Given the description of an element on the screen output the (x, y) to click on. 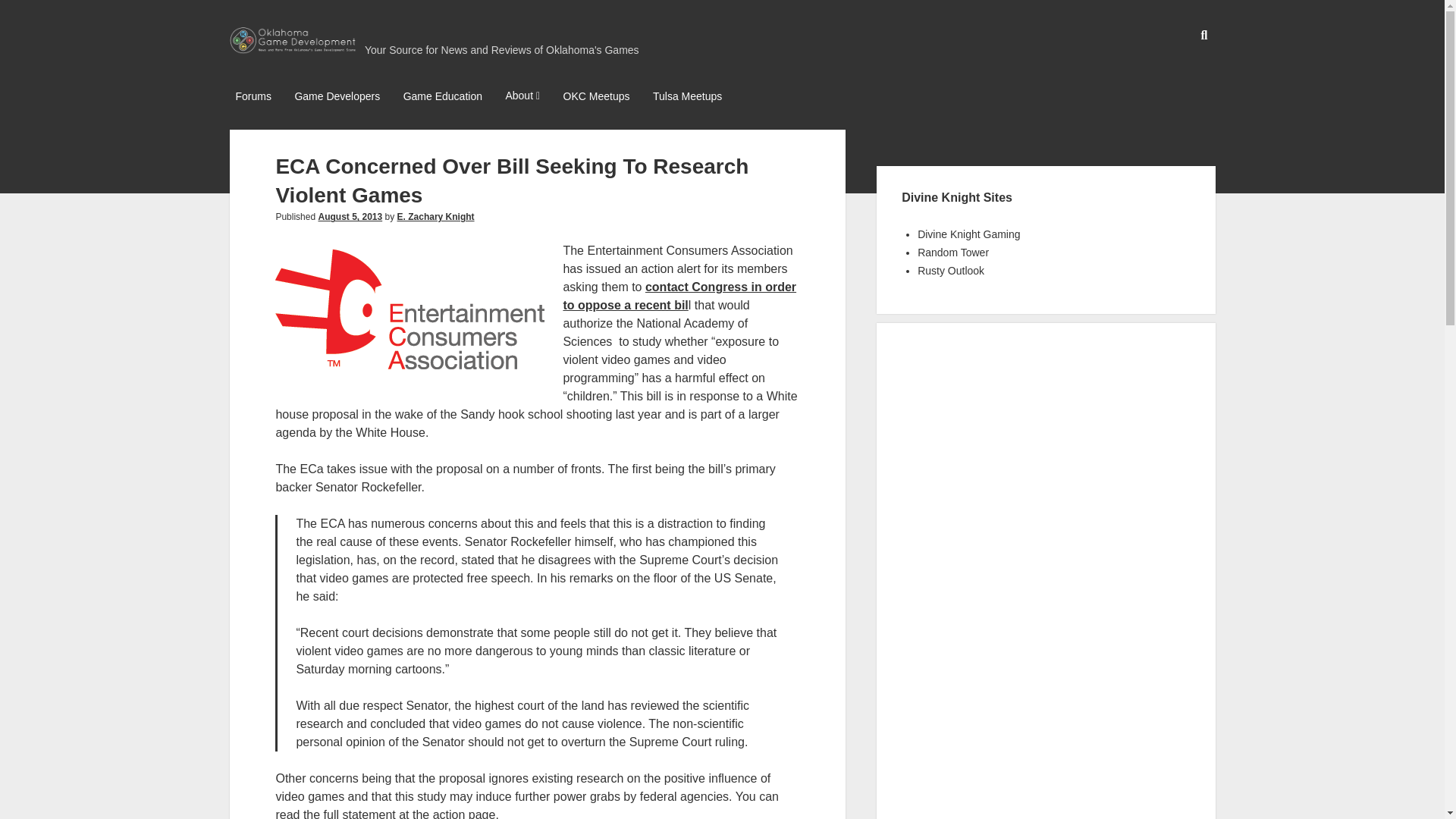
August 5, 2013 (349, 216)
Game Developers (336, 96)
Game Education (442, 96)
Oklahoma Game Development (292, 47)
Random Tower (952, 252)
E. Zachary Knight (435, 216)
Divine Knight Gaming (968, 234)
OKC Meetups (596, 96)
Forums (252, 96)
About (522, 96)
